Given the description of an element on the screen output the (x, y) to click on. 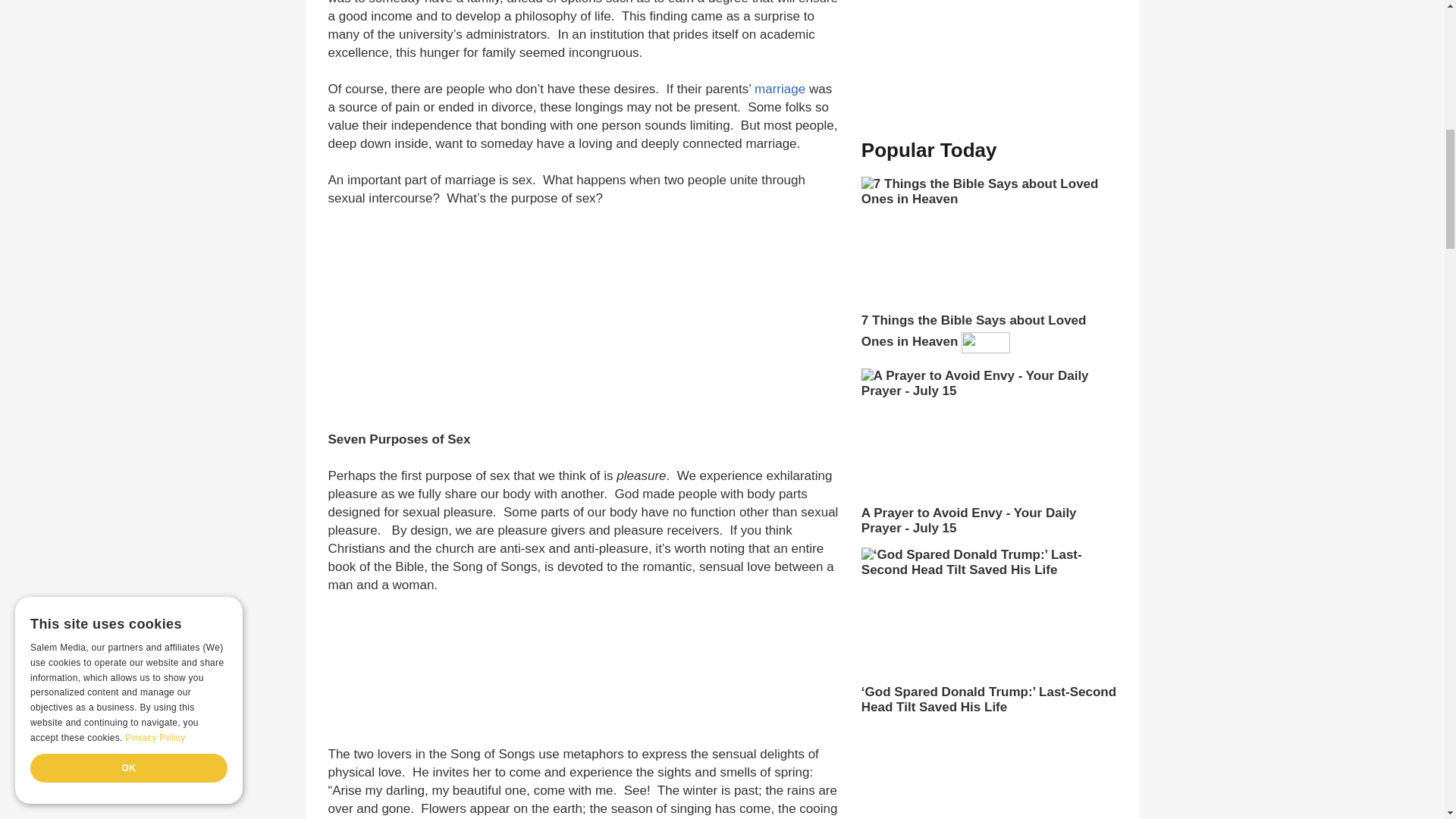
CW Desktop Embed - Angels PDF 650x175 - Daily Insp (564, 669)
